Given the description of an element on the screen output the (x, y) to click on. 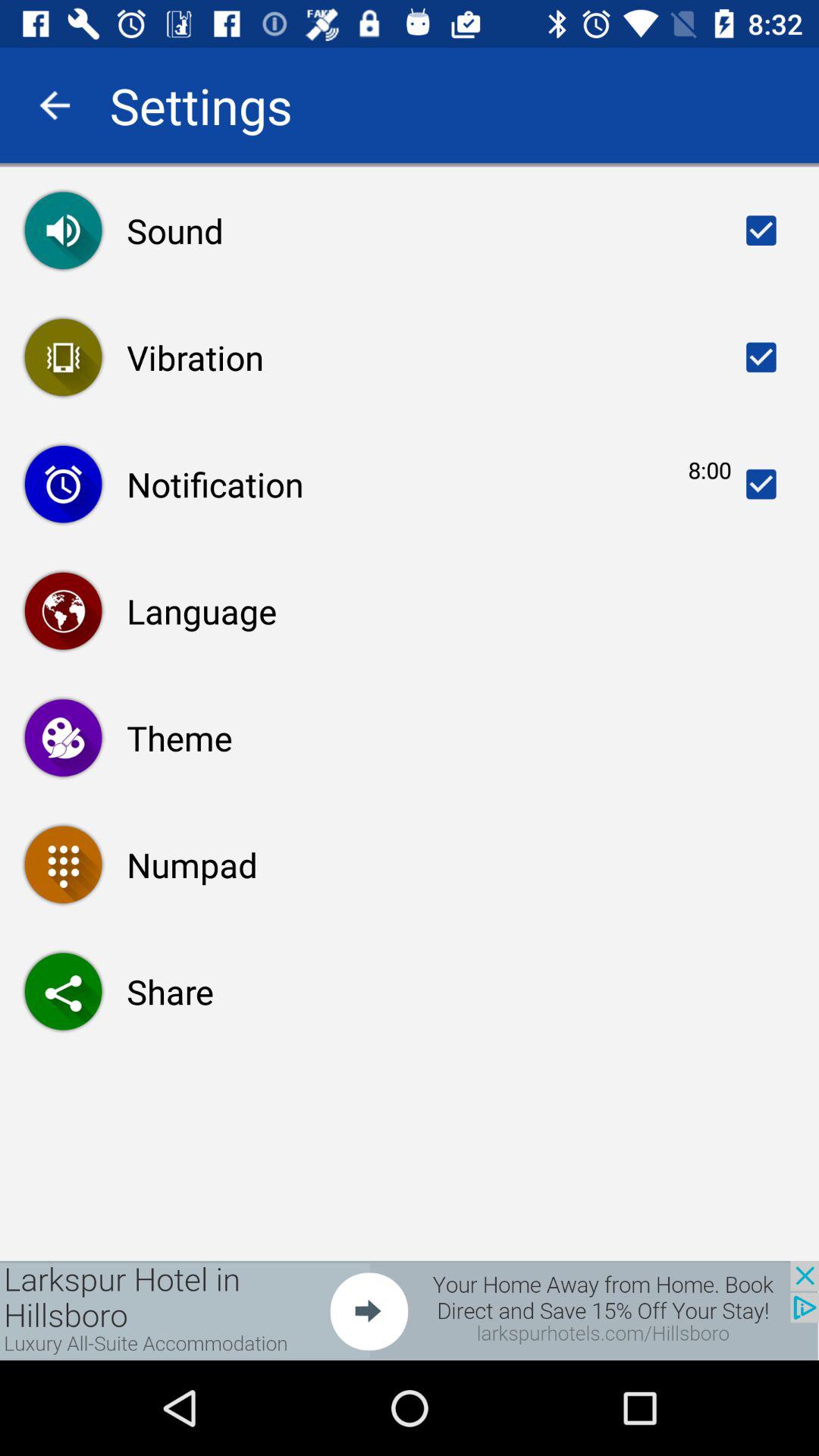
select the option beside sound (761, 230)
select third row right side check box (761, 483)
select the tick option beside the text vibration (761, 357)
